Given the description of an element on the screen output the (x, y) to click on. 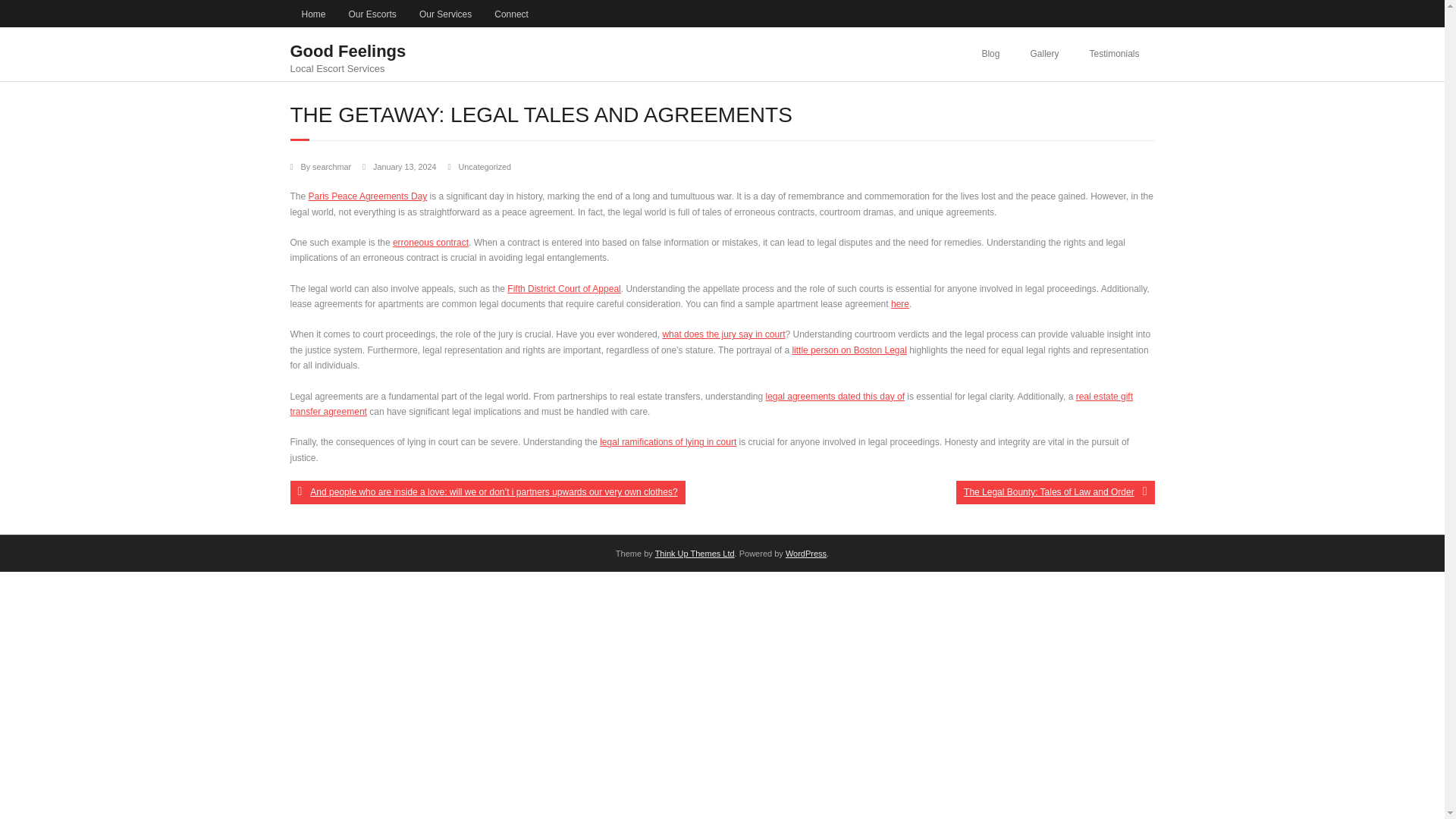
Our Escorts (372, 13)
WordPress (806, 552)
Paris Peace Agreements Day (368, 195)
Uncategorized (484, 166)
Fifth District Court of Appeal (347, 54)
legal agreements dated this day of (563, 288)
Local Escort Services (834, 396)
Good Feelings (347, 68)
Our Services (347, 50)
